Given the description of an element on the screen output the (x, y) to click on. 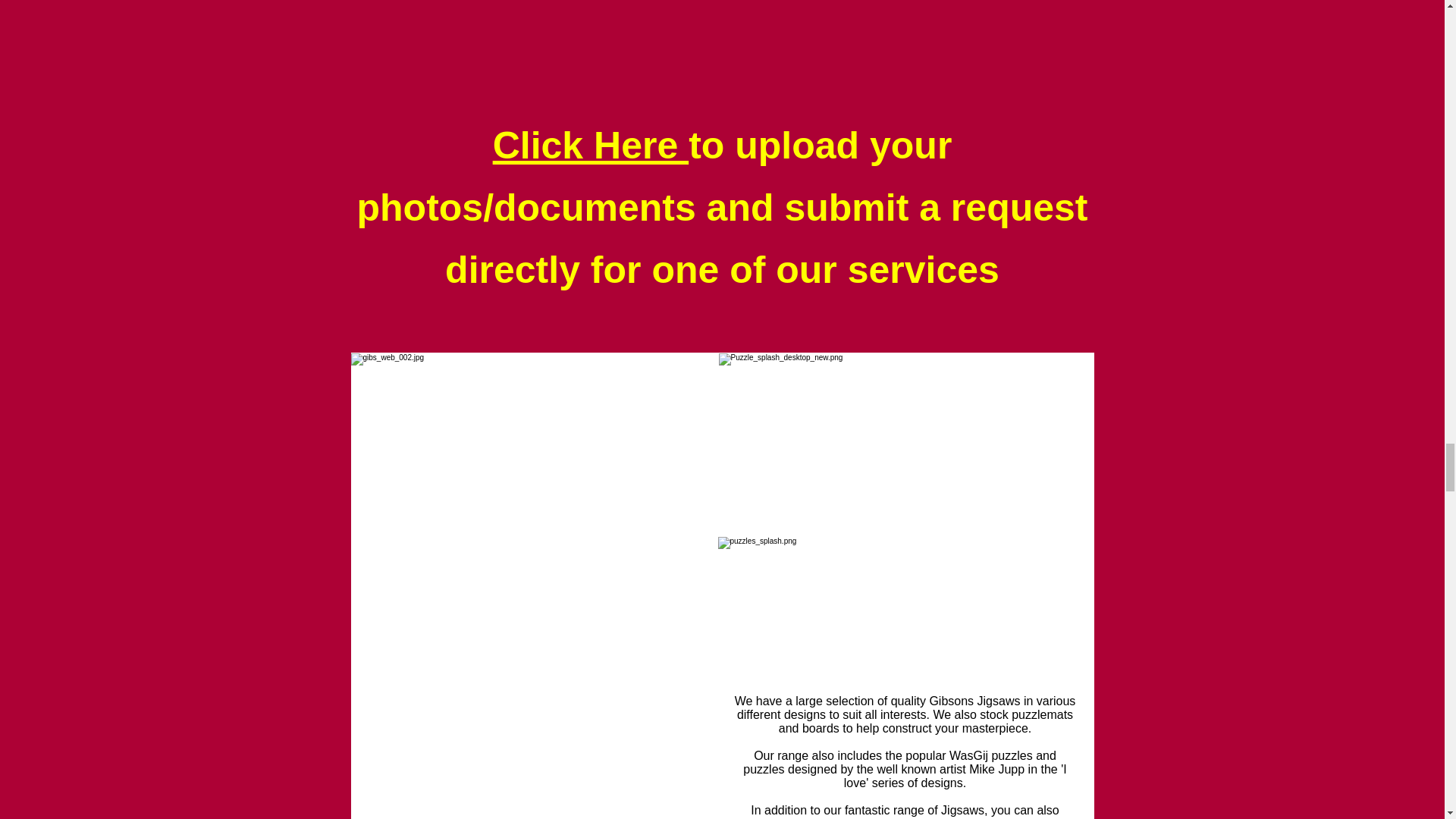
Click Here (590, 145)
